Given the description of an element on the screen output the (x, y) to click on. 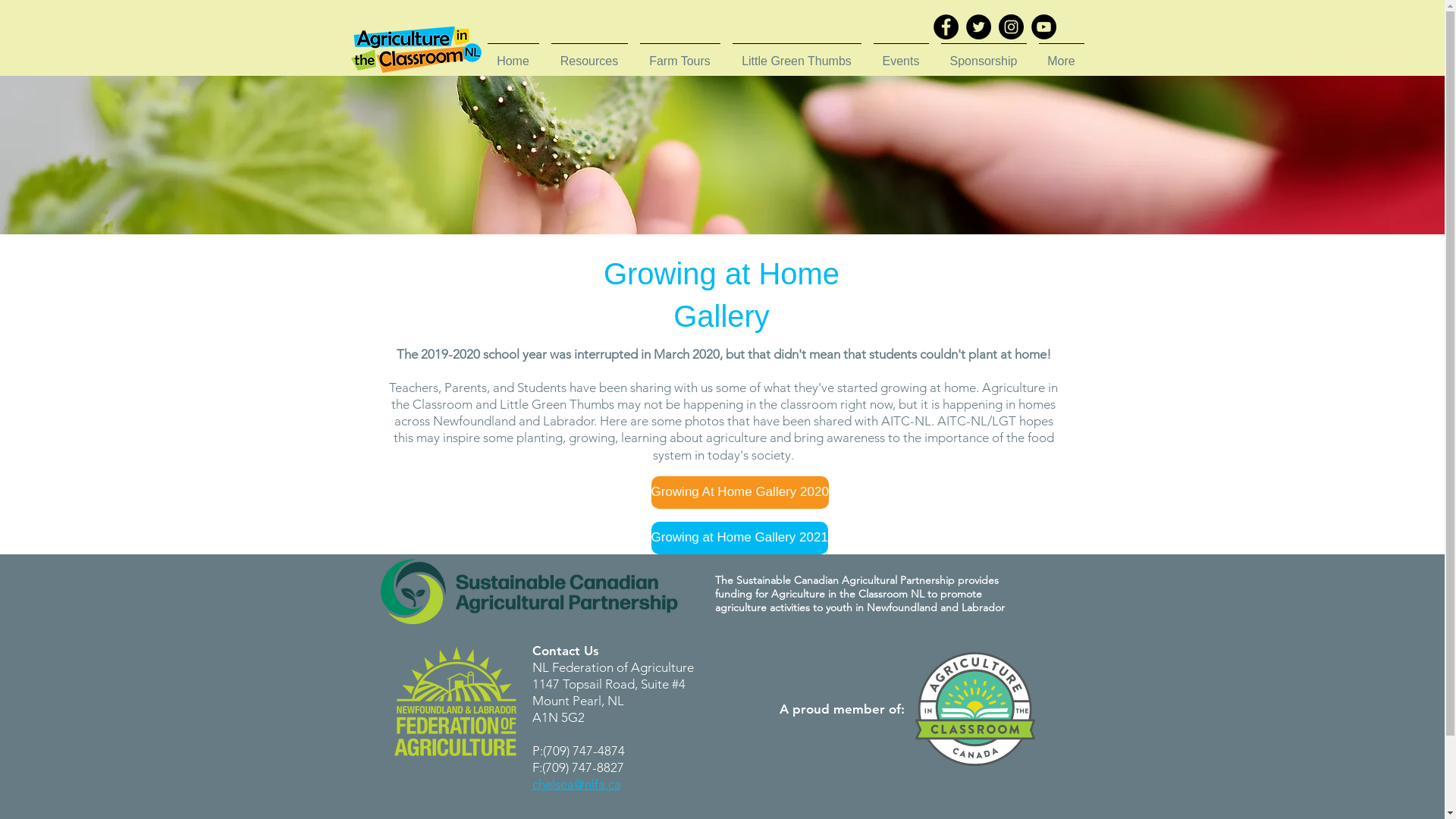
Home Element type: text (512, 54)
Growing at Home Gallery 2021 Element type: text (738, 537)
f9fe9a_184e6a495c754d5fbd810d0e26fc5c04~mv2.png Element type: hover (974, 708)
Farm Tours Element type: text (679, 54)
chelsea@nlfa.ca Element type: text (576, 783)
Growing At Home Gallery 2020 Element type: text (739, 492)
